Given the description of an element on the screen output the (x, y) to click on. 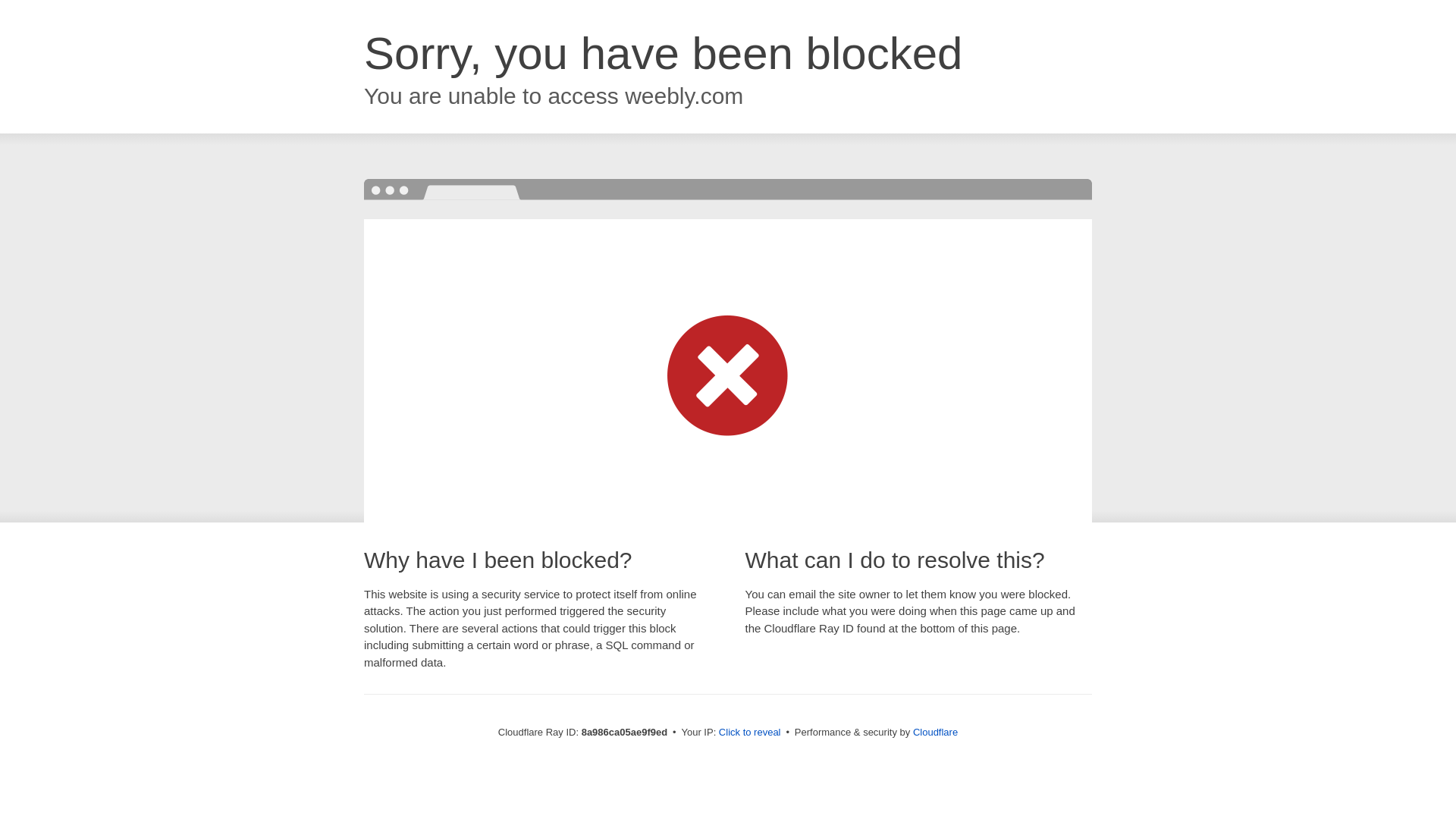
Click to reveal (749, 732)
Cloudflare (935, 731)
